Given the description of an element on the screen output the (x, y) to click on. 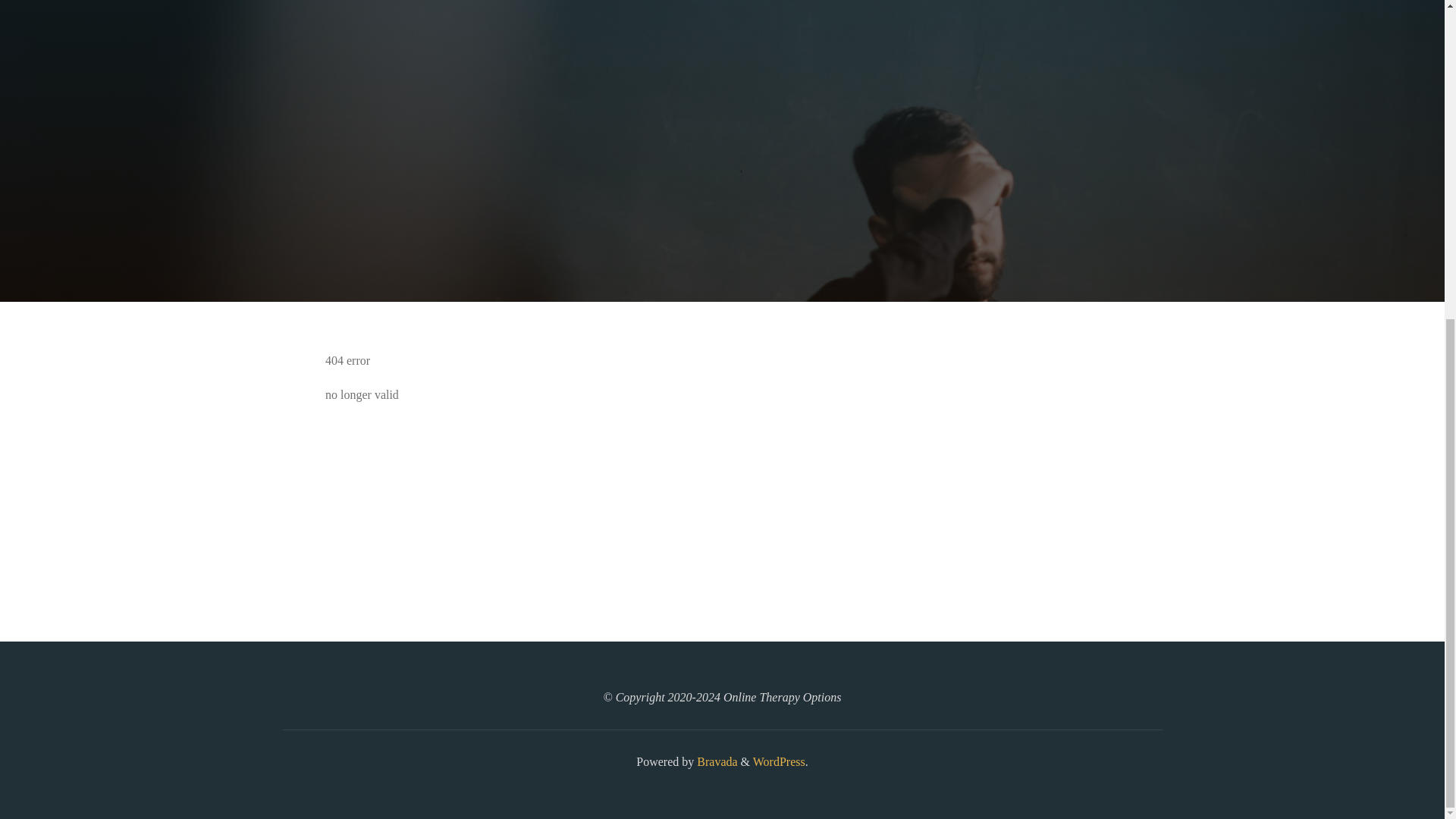
Bravada WordPress Theme by Cryout Creations (715, 761)
Semantic Personal Publishing Platform (778, 761)
WordPress (778, 761)
Read more (721, 207)
Bravada (715, 761)
